Given the description of an element on the screen output the (x, y) to click on. 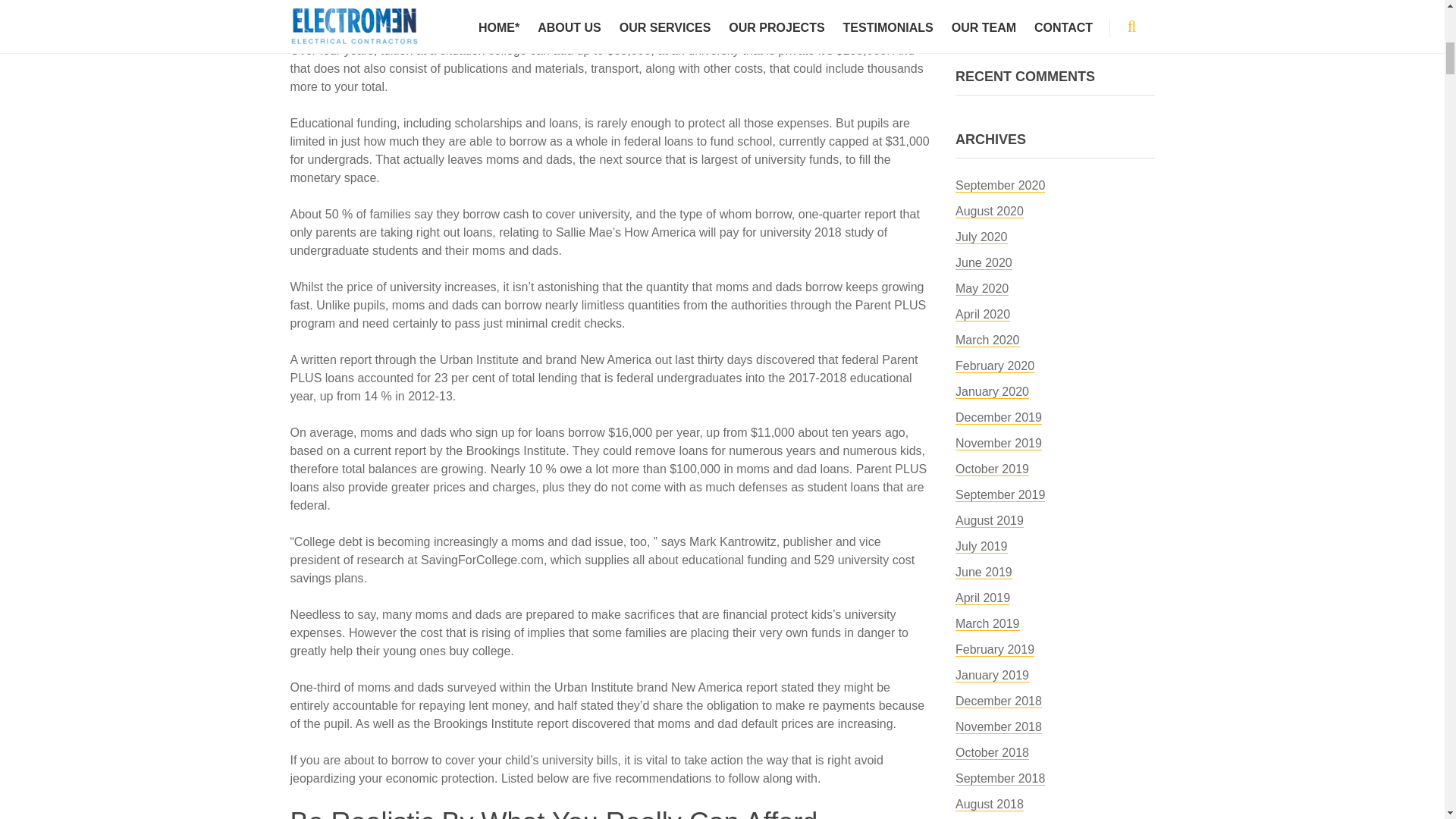
August 2020 (989, 211)
April 2020 (982, 314)
July 2020 (981, 237)
March 2020 (987, 340)
September 2020 (1000, 185)
June 2020 (983, 263)
May 2020 (982, 288)
